Given the description of an element on the screen output the (x, y) to click on. 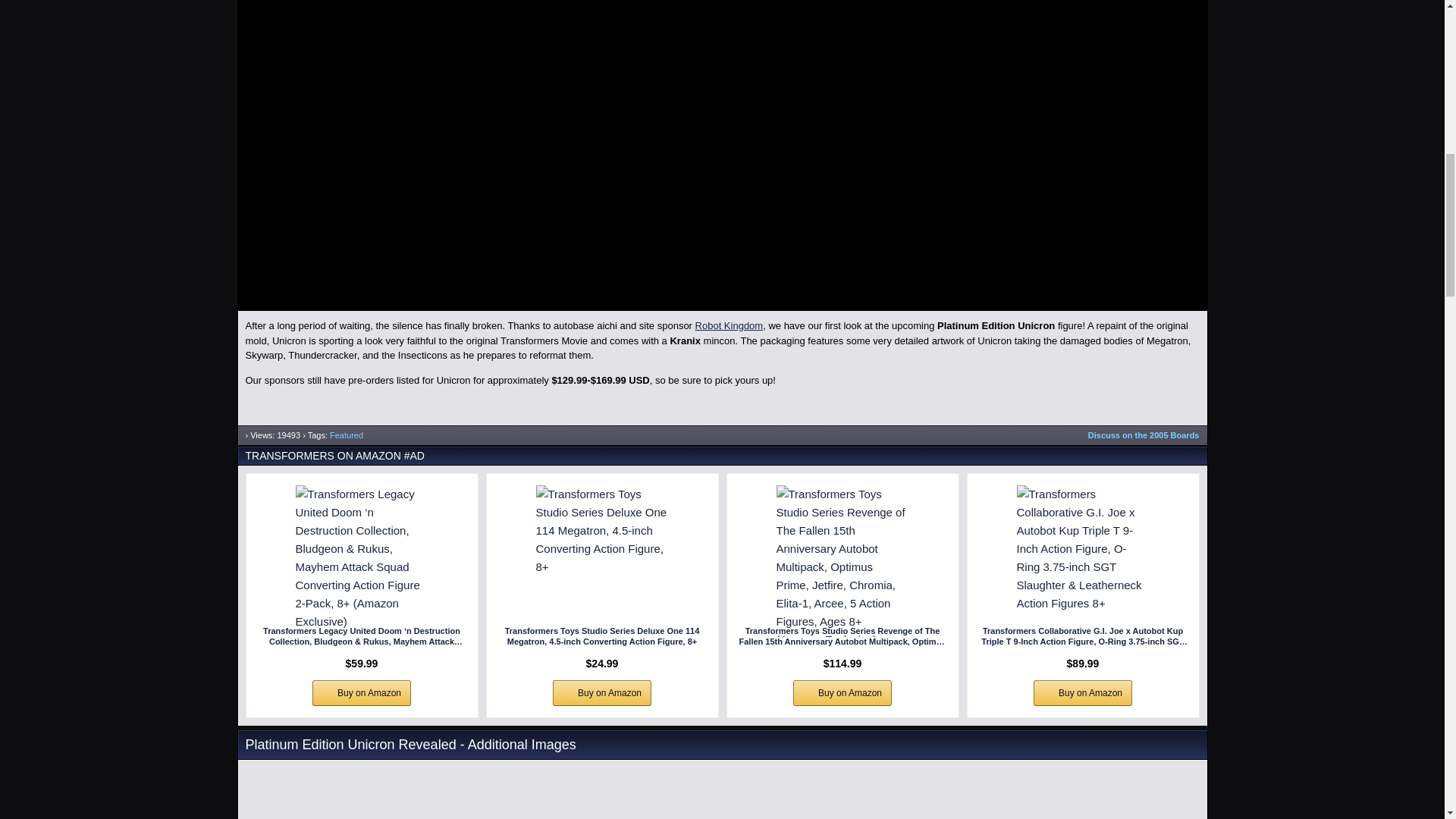
Buy on Amazon (601, 692)
Buy on Amazon (842, 692)
Share with friends on Facebook (1098, 412)
Post to tumblr (1156, 412)
Buy on Amazon (361, 692)
Share with followers on Twitter (1126, 412)
reddit this! (1185, 412)
